Given the description of an element on the screen output the (x, y) to click on. 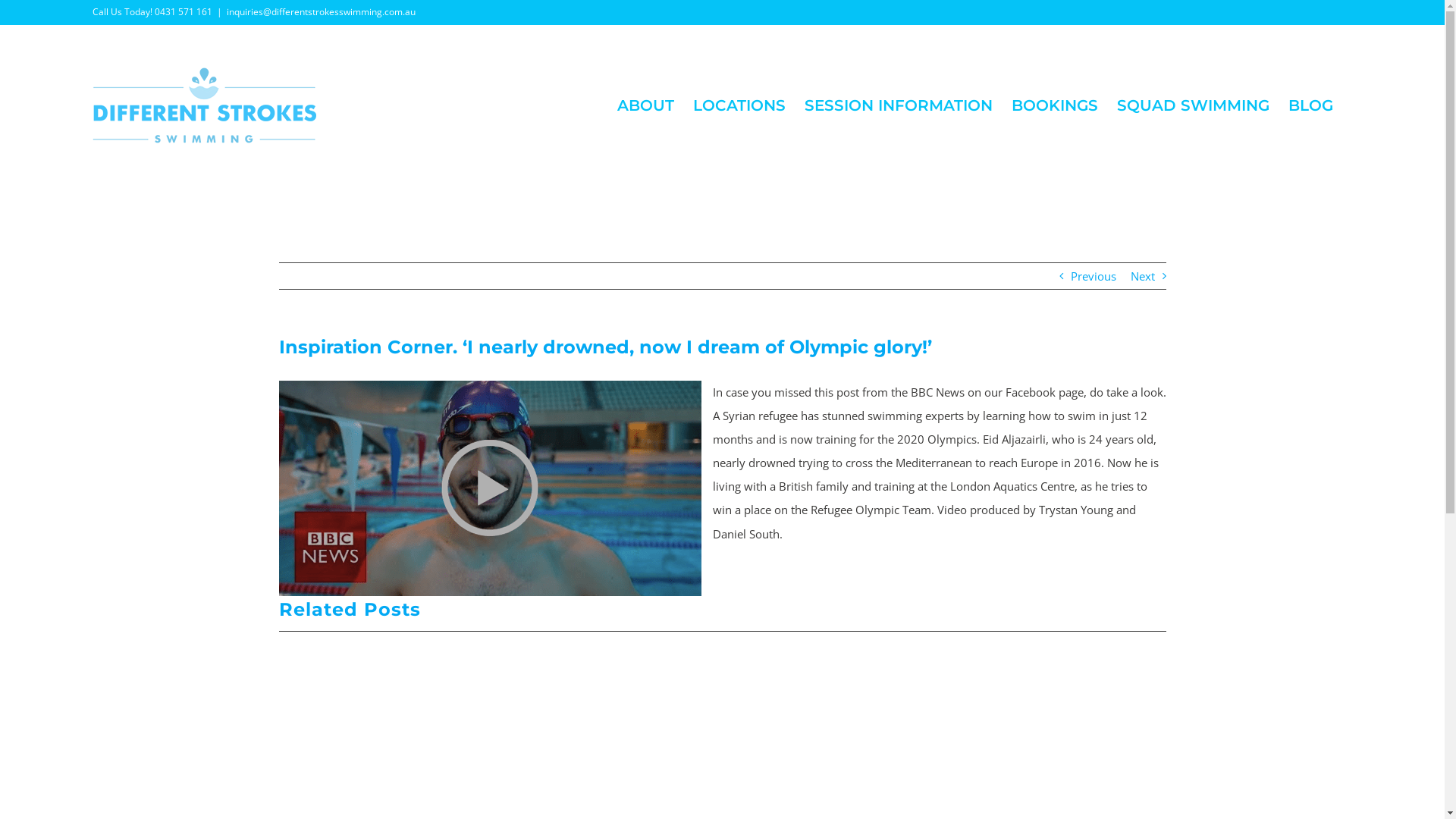
Previous Element type: text (1093, 275)
SQUAD SWIMMING Element type: text (1193, 104)
Next Element type: text (1141, 275)
inquiries@differentstrokesswimming.com.au Element type: text (320, 11)
LOCATIONS Element type: text (739, 104)
BOOKINGS Element type: text (1054, 104)
ABOUT Element type: text (645, 104)
BLOG Element type: text (1310, 104)
SESSION INFORMATION Element type: text (898, 104)
